Given the description of an element on the screen output the (x, y) to click on. 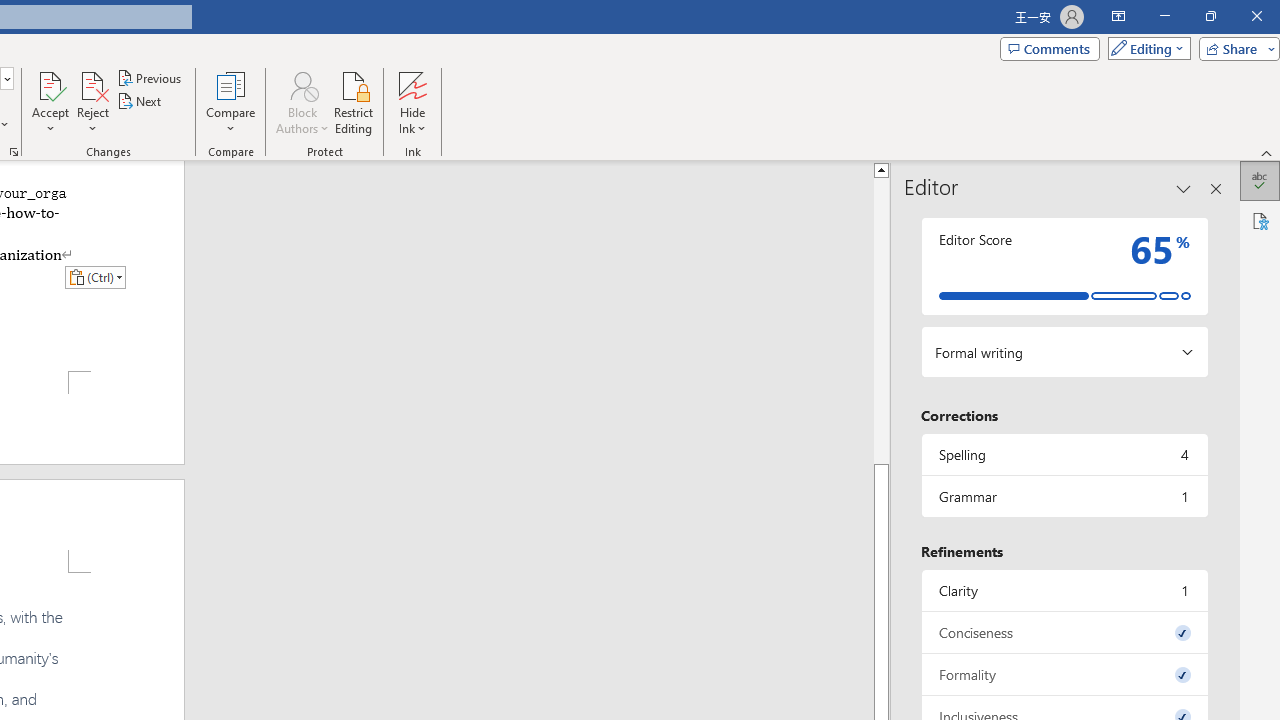
Conciseness, 0 issues. Press space or enter to review items. (1064, 632)
Accept (50, 102)
Next (140, 101)
Previous (150, 78)
